Given the description of an element on the screen output the (x, y) to click on. 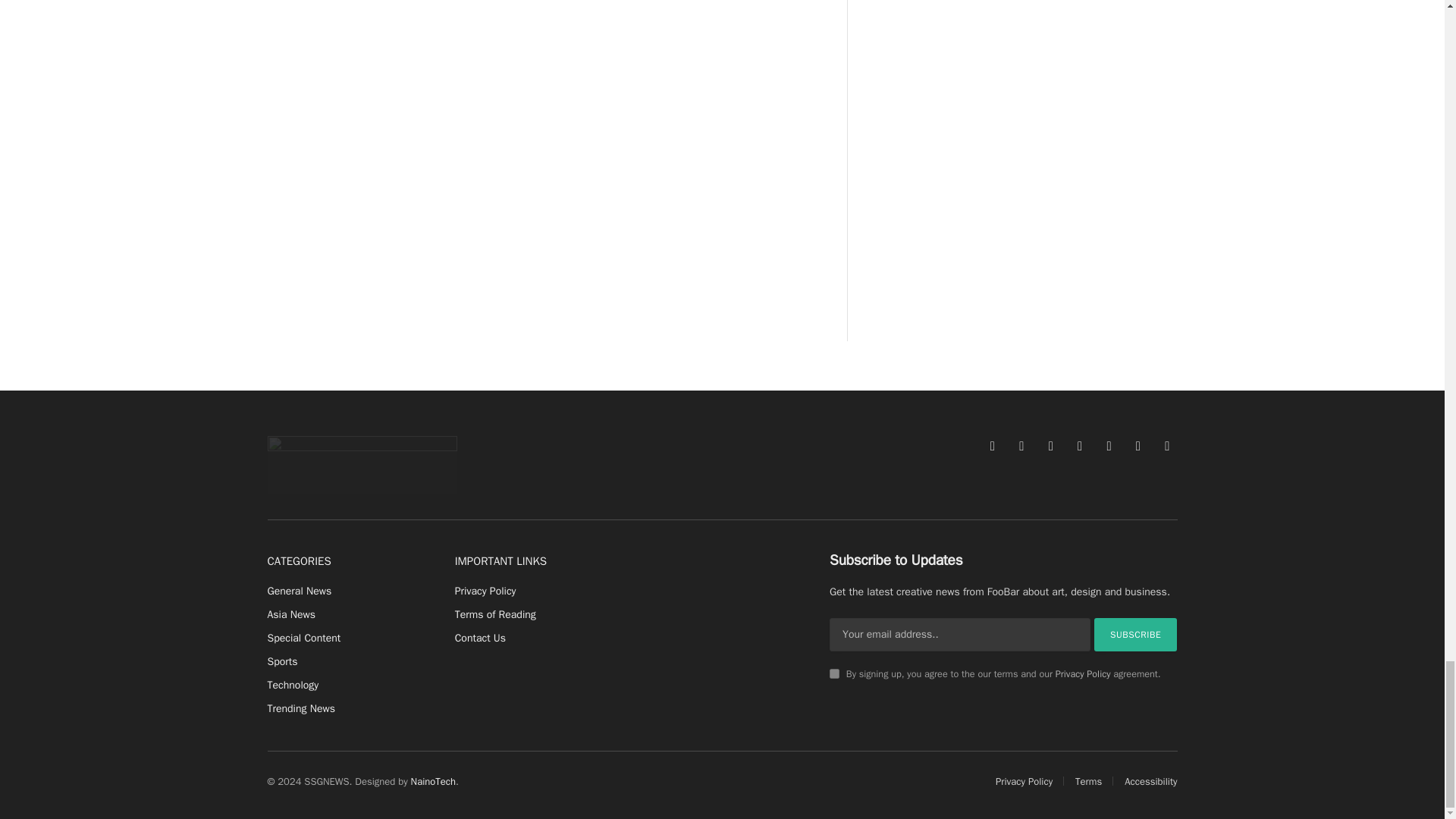
on (834, 673)
Subscribe (1135, 634)
